Given the description of an element on the screen output the (x, y) to click on. 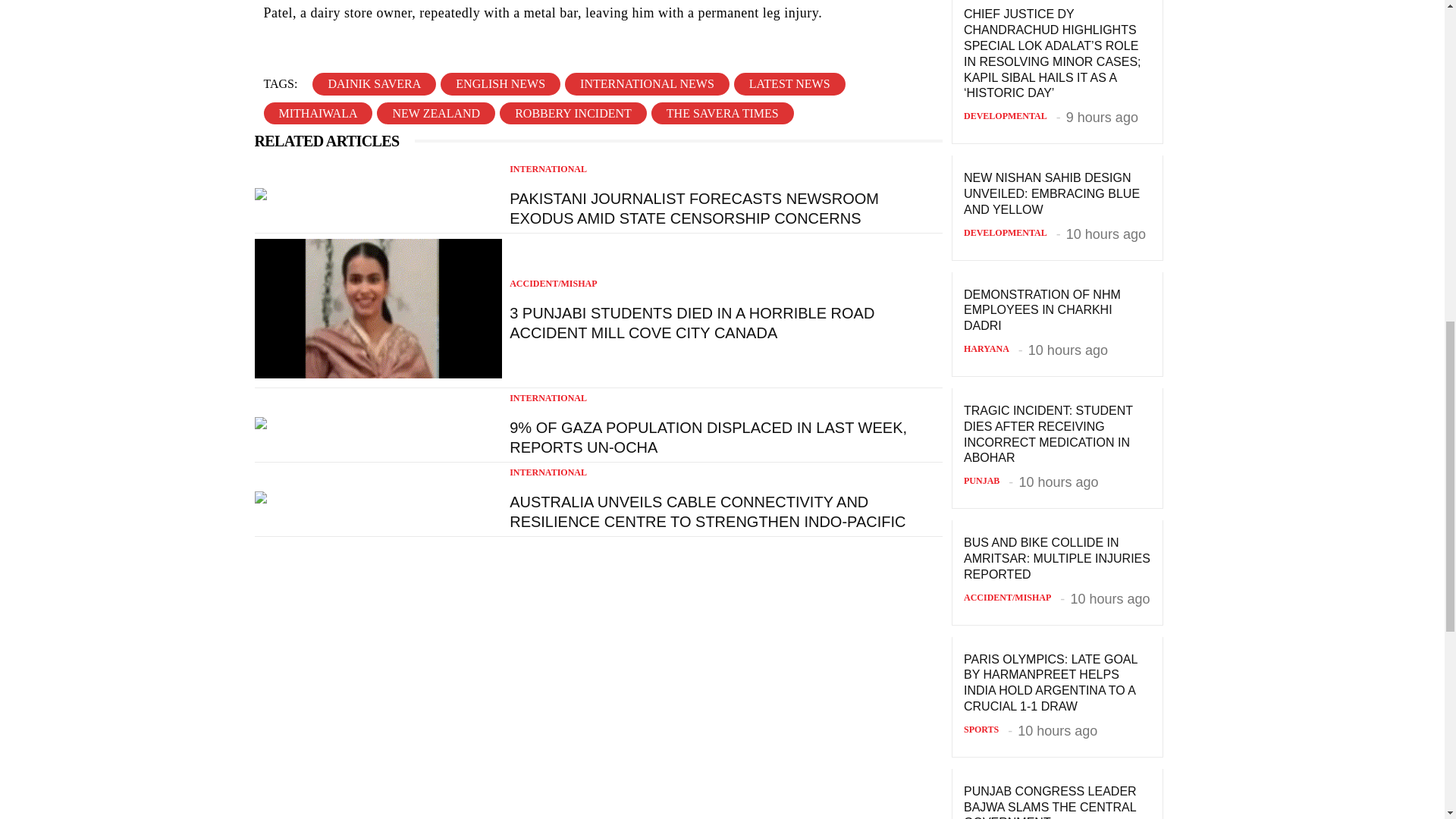
DAINIK SAVERA (374, 83)
INTERNATIONAL NEWS (646, 83)
ENGLISH NEWS (500, 83)
